Given the description of an element on the screen output the (x, y) to click on. 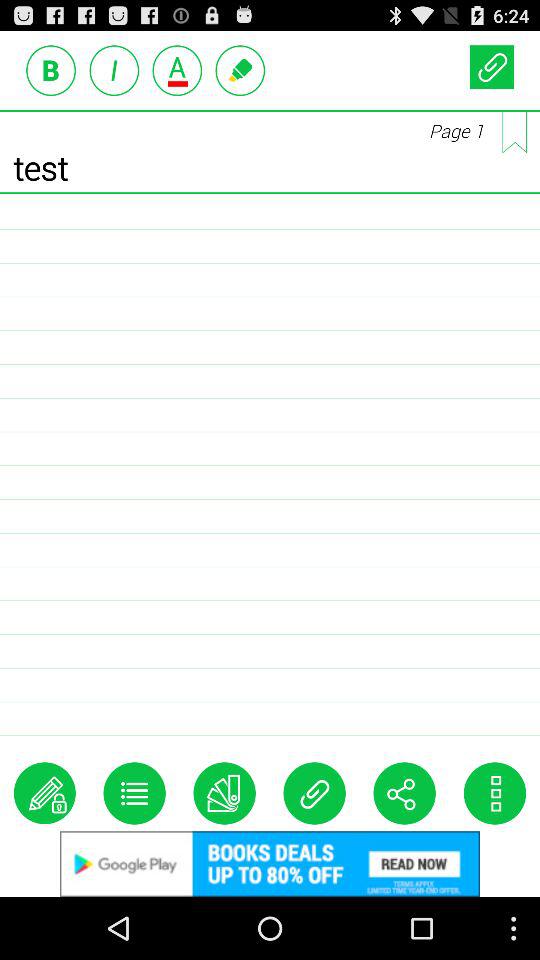
text option (114, 70)
